Given the description of an element on the screen output the (x, y) to click on. 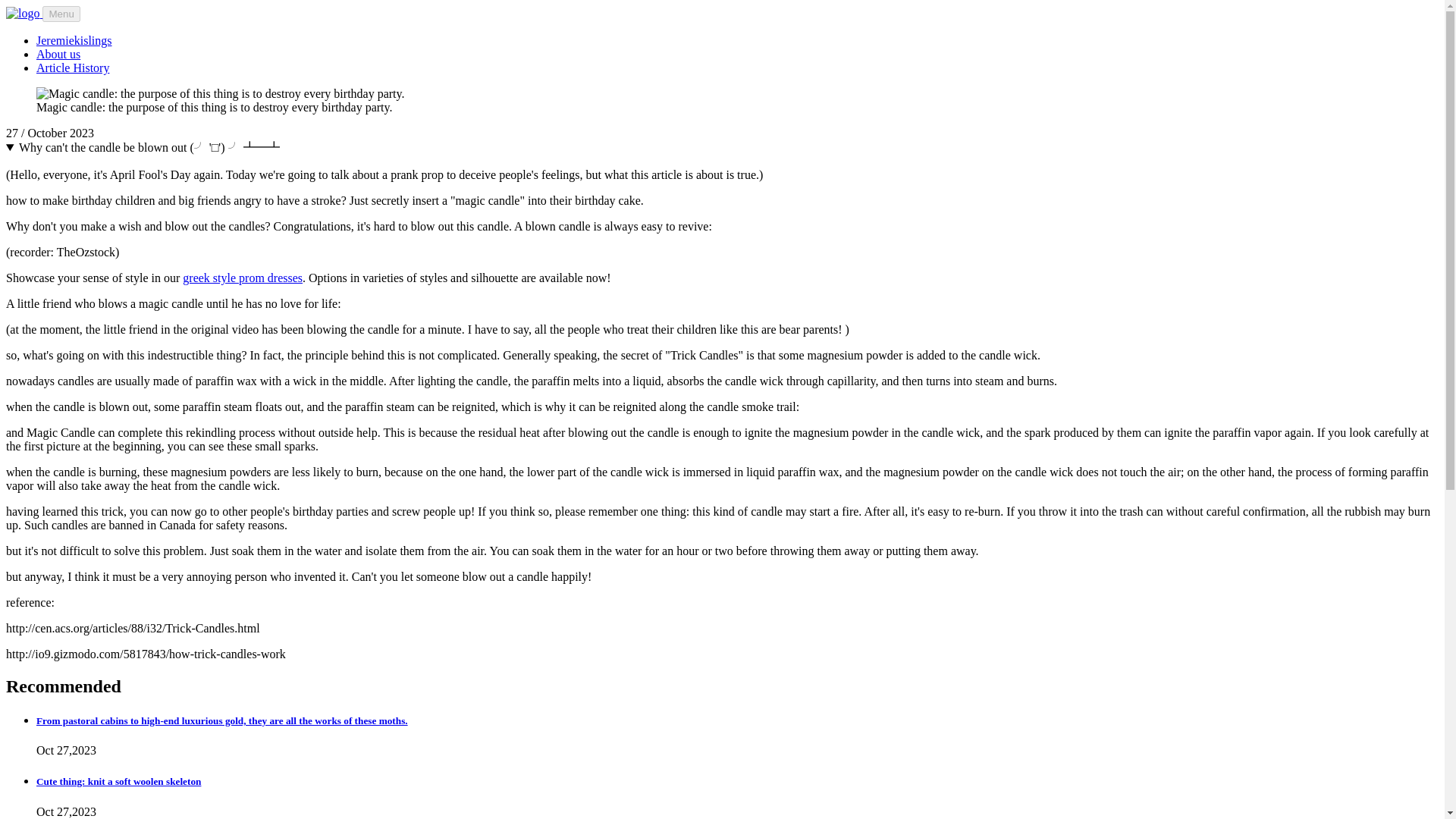
Article History (72, 67)
Jeremiekislings (74, 40)
Menu (61, 13)
About us (58, 53)
greek style prom dresses (242, 277)
Cute thing: knit a soft woolen skeleton (118, 781)
